Given the description of an element on the screen output the (x, y) to click on. 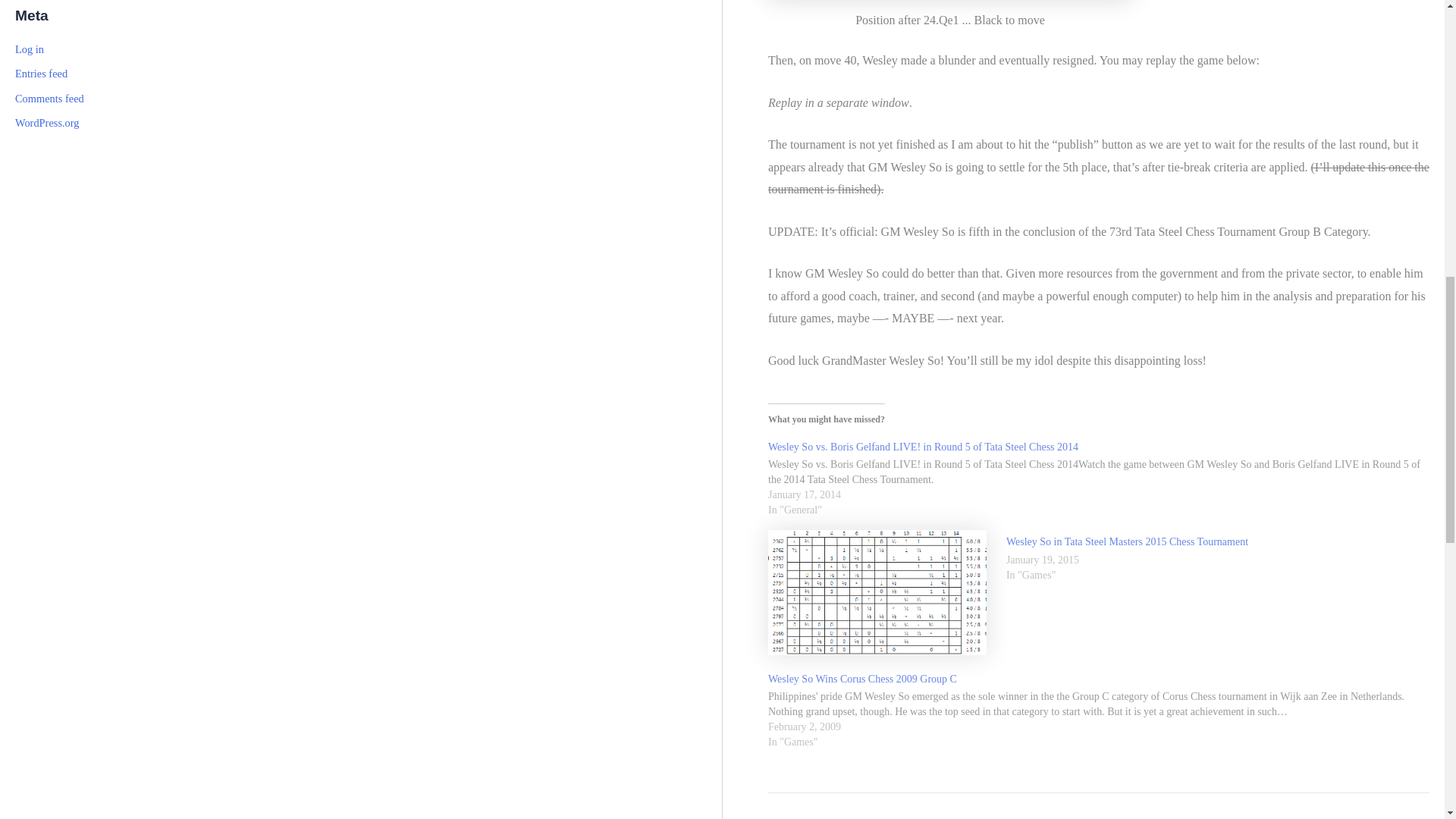
Wesley So in Tata Steel Masters 2015 Chess Tournament (1126, 541)
Entries feed (40, 73)
Wesley So Wins Corus Chess 2009 Group C (862, 678)
WordPress.org (47, 122)
Comments feed (49, 98)
Log in (28, 49)
